Given the description of an element on the screen output the (x, y) to click on. 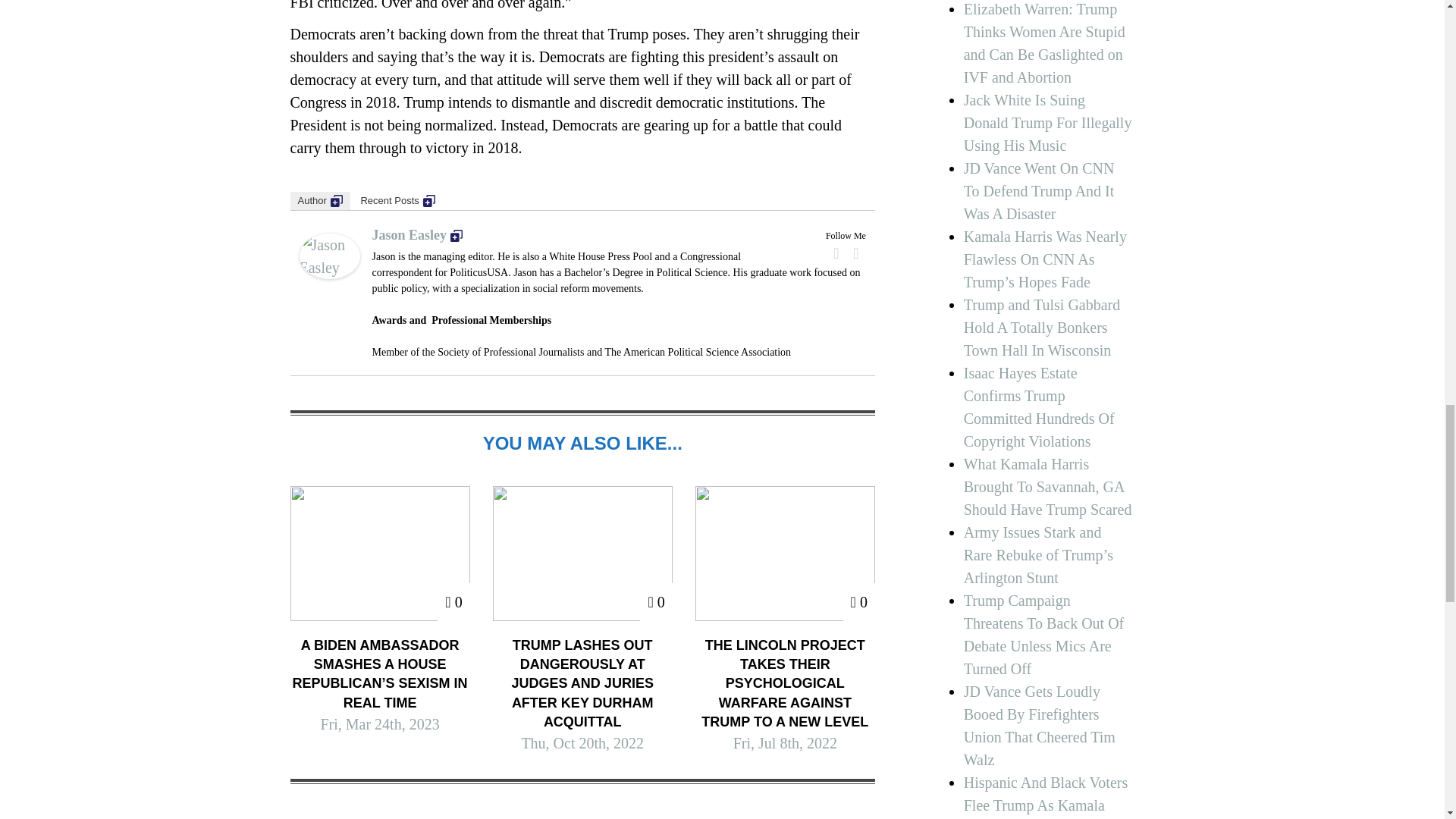
Facebook (836, 253)
Twitter (855, 253)
Jason Easley (417, 234)
Jason Easley (328, 256)
Link goes to another page on this site. (429, 199)
Recent Posts (397, 199)
Fri, Mar 24th, 2023 (379, 723)
Link goes to another page on this site. (336, 199)
Author (319, 199)
